Given the description of an element on the screen output the (x, y) to click on. 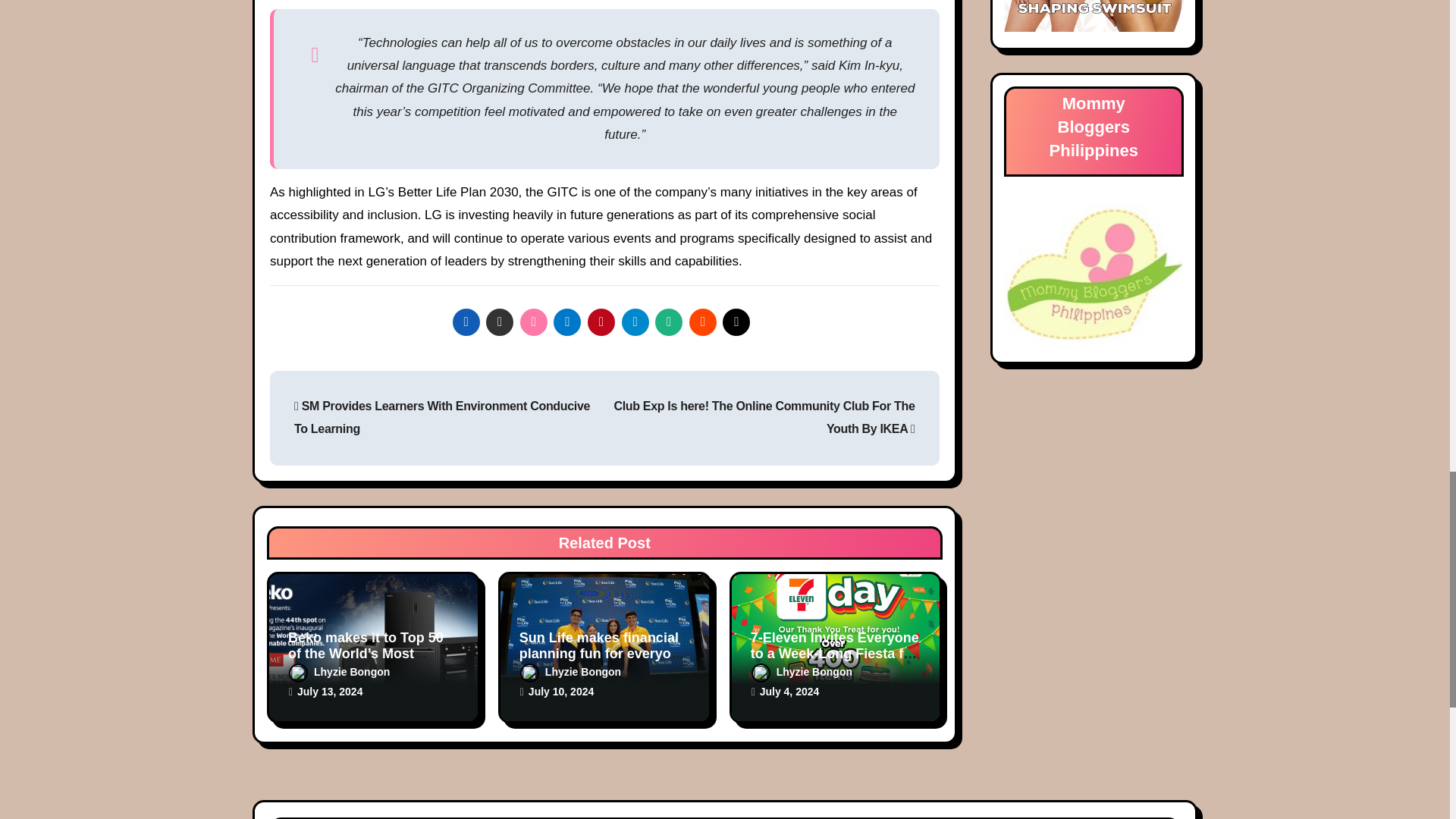
July 13, 2024 (329, 691)
Lhyzie Bongon (339, 671)
Lhyzie Bongon (570, 671)
July 4, 2024 (789, 691)
July 10, 2024 (561, 691)
Lhyzie Bongon (801, 671)
SM Provides Learners With Environment Conducive To Learning (441, 416)
